Given the description of an element on the screen output the (x, y) to click on. 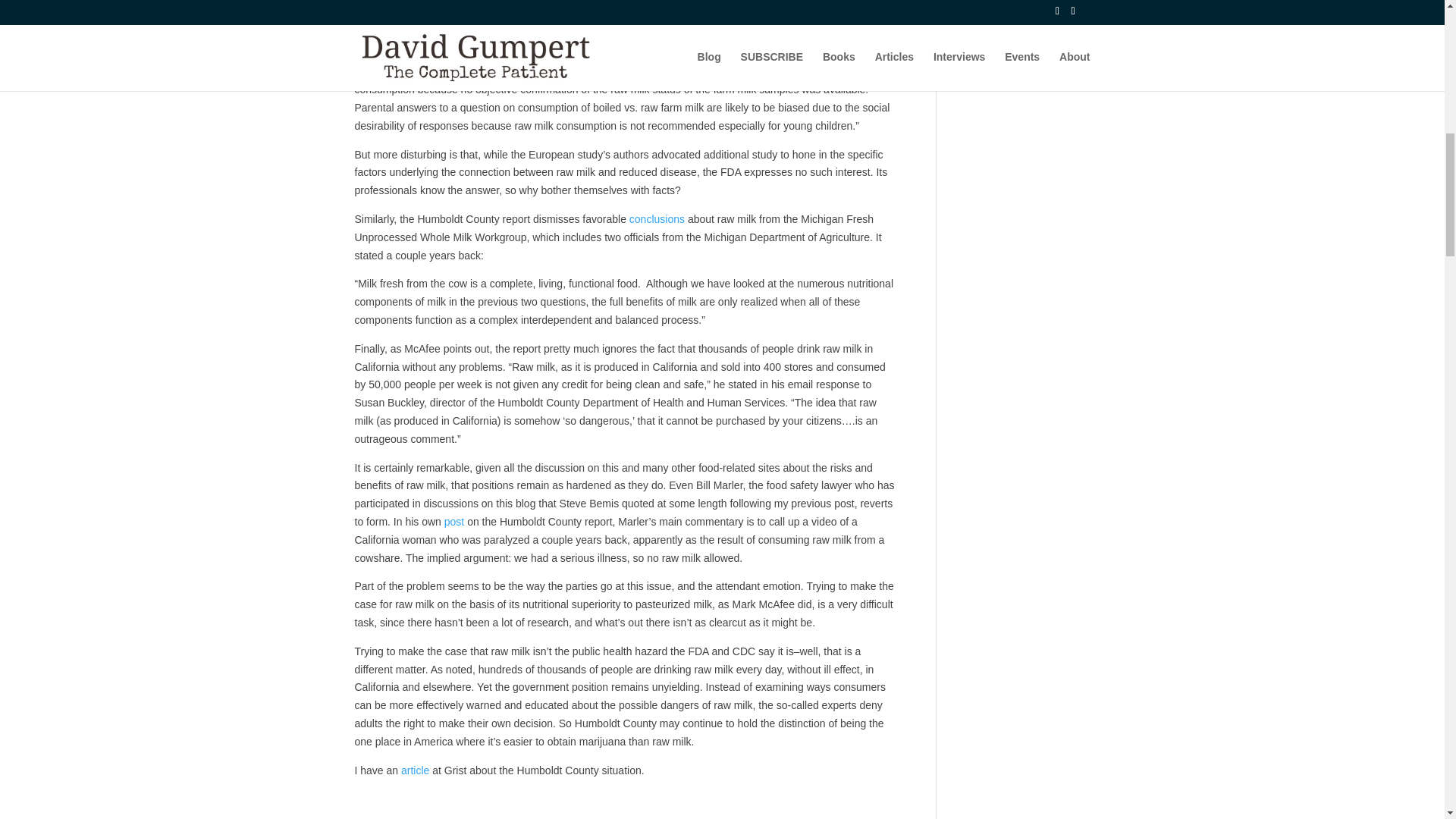
article (416, 770)
post (455, 521)
conclusions (657, 218)
